Given the description of an element on the screen output the (x, y) to click on. 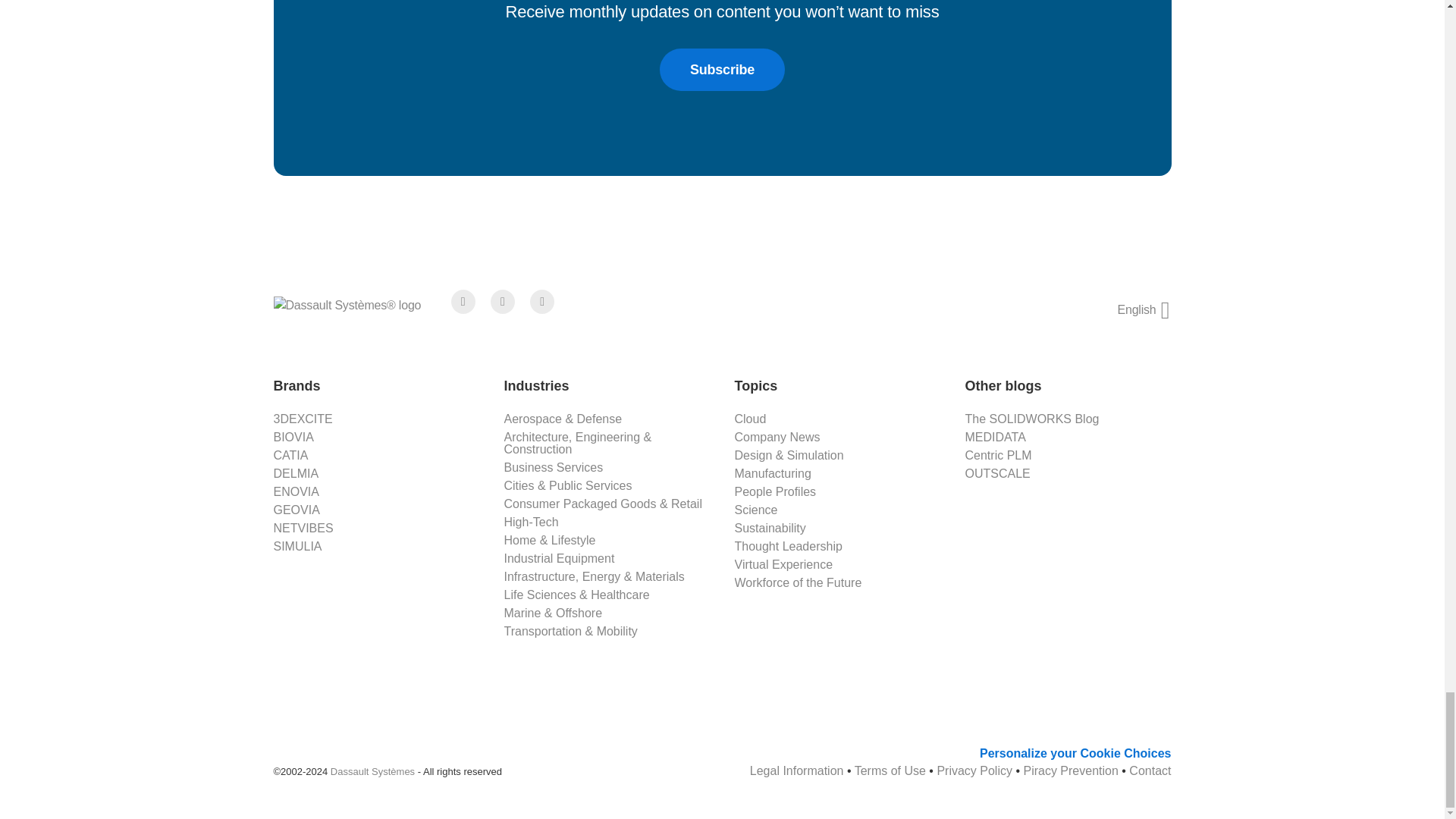
Facebook account (463, 302)
Twitter account (502, 302)
Linkedin account (541, 302)
